Given the description of an element on the screen output the (x, y) to click on. 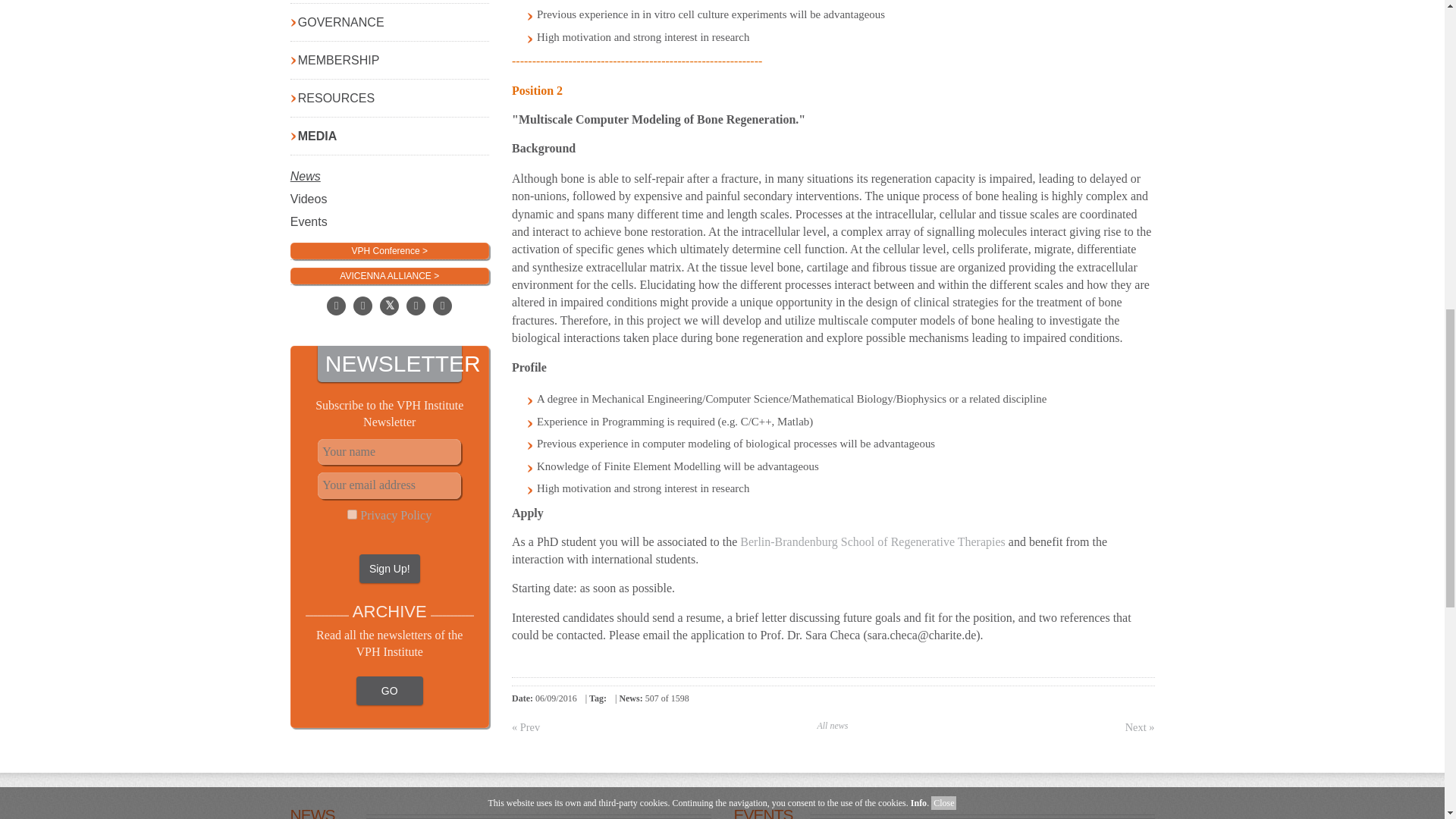
All news (833, 725)
Berlin-Brandenburg School of Regenerative Therapies (872, 541)
GO (389, 13)
